Given the description of an element on the screen output the (x, y) to click on. 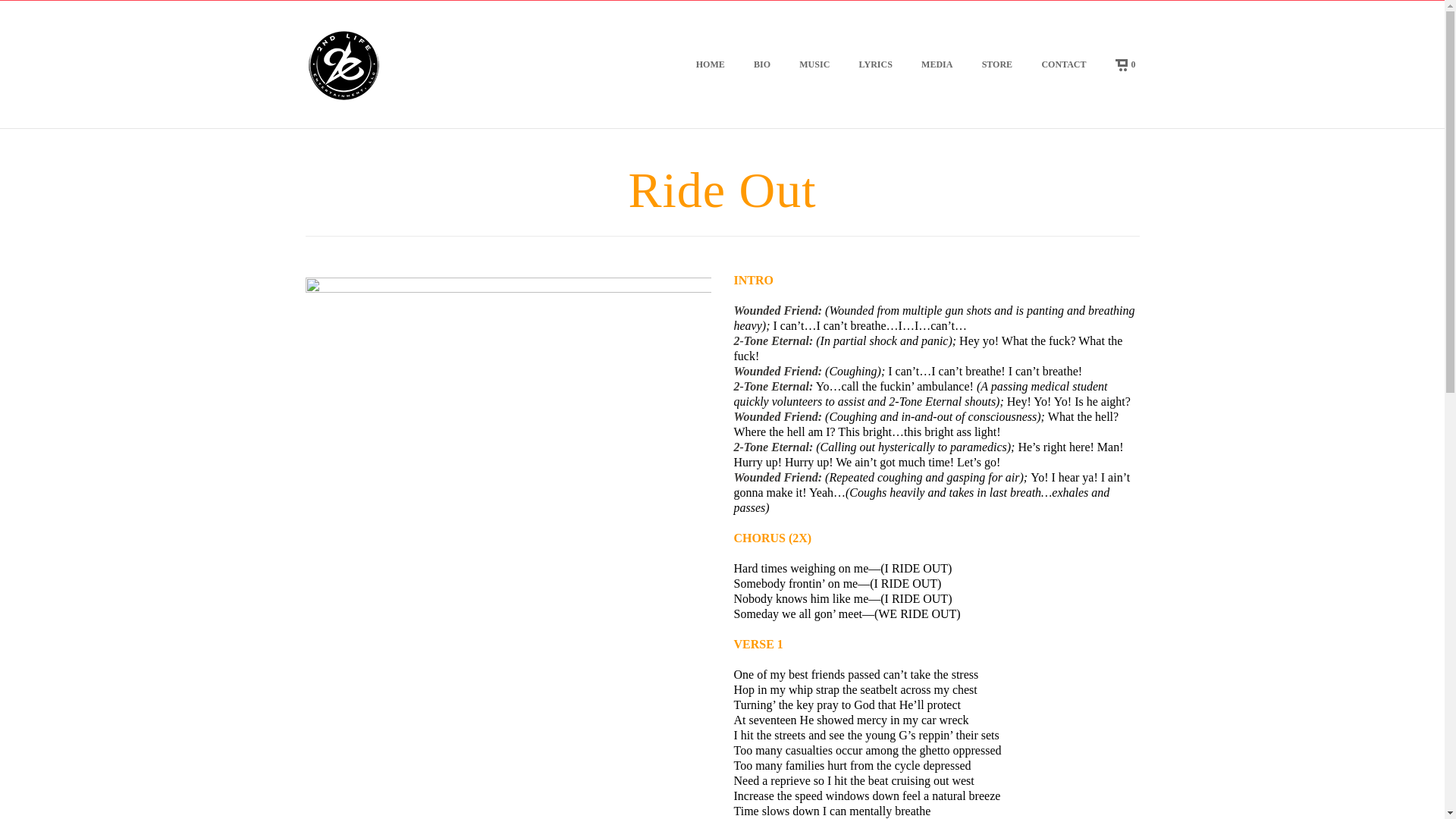
STORE Element type: text (997, 64)
MEDIA Element type: text (936, 64)
BIO Element type: text (761, 64)
2nd Life Entertainment, LLC Element type: hover (342, 63)
LYRICS Element type: text (875, 64)
0 Element type: text (1119, 64)
MUSIC Element type: text (814, 64)
CONTACT Element type: text (1063, 64)
HOME Element type: text (710, 64)
